Given the description of an element on the screen output the (x, y) to click on. 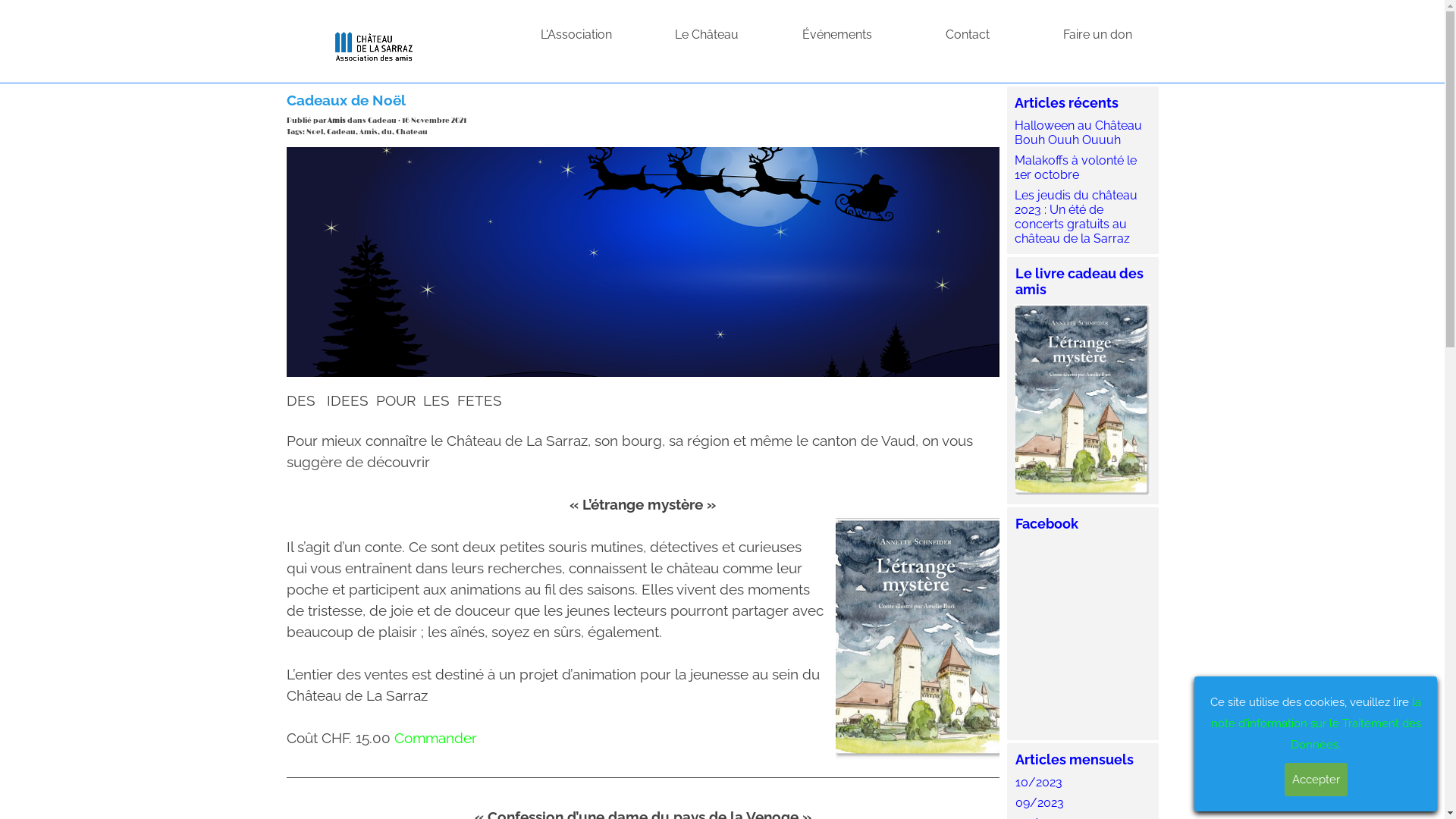
L'Association Element type: text (576, 34)
Cadeau Element type: text (340, 132)
Amis Element type: text (368, 132)
Noel Element type: text (314, 132)
Chateau Element type: text (411, 132)
Cadeau Element type: text (381, 120)
09/2023 Element type: text (1038, 802)
Logo Element type: hover (373, 43)
Faire un don Element type: text (1097, 34)
du Element type: text (385, 132)
10/2023 Element type: text (1037, 782)
Amis Element type: text (336, 120)
Contact Element type: text (967, 34)
Commander Element type: text (435, 737)
